Given the description of an element on the screen output the (x, y) to click on. 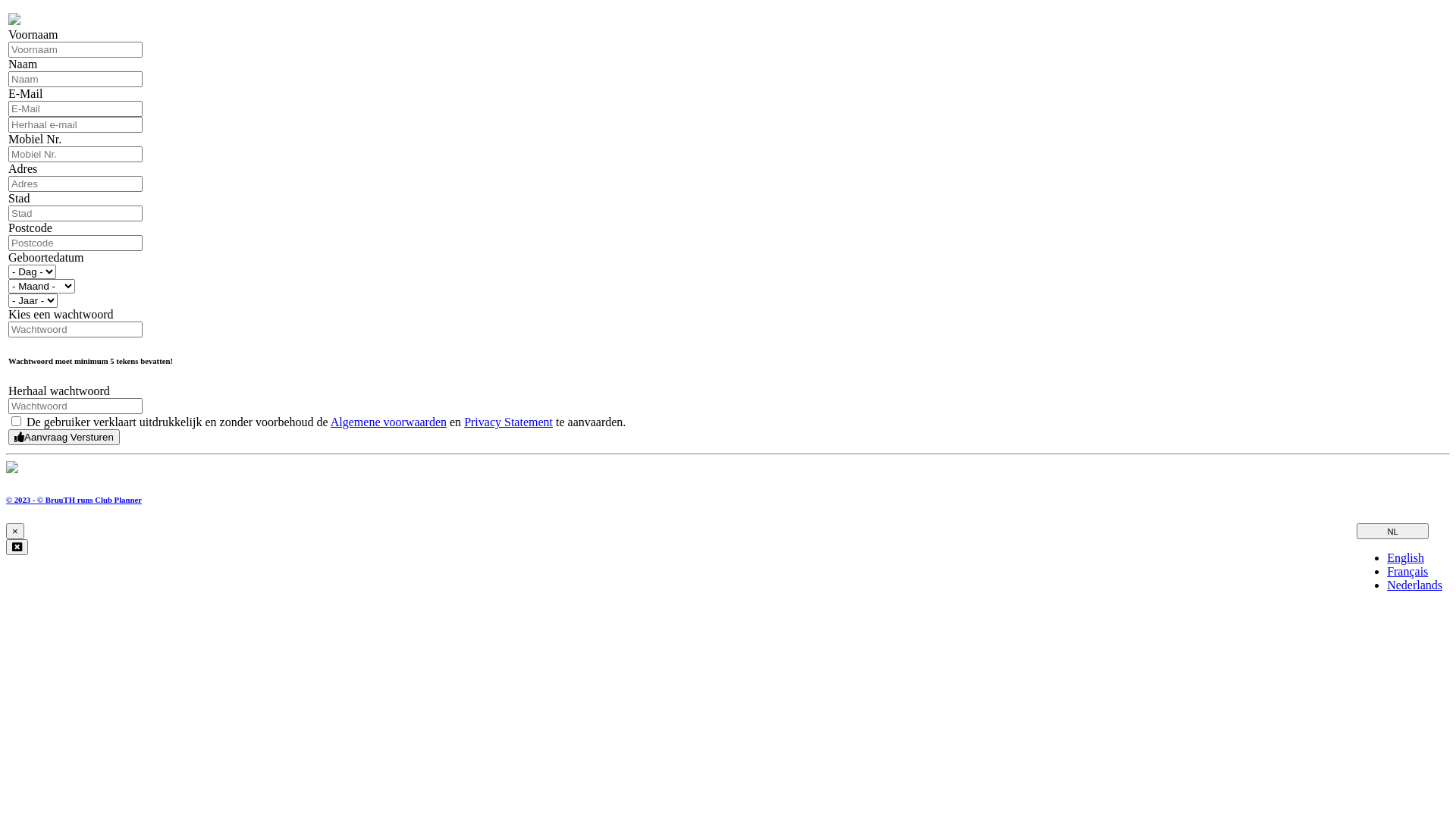
Algemene voorwaarden Element type: text (388, 421)
Privacy Statement Element type: text (508, 421)
Nederlands Element type: text (1414, 584)
English Element type: text (1405, 557)
Aanvraag Versturen Element type: text (63, 437)
NL Element type: text (1392, 531)
